Given the description of an element on the screen output the (x, y) to click on. 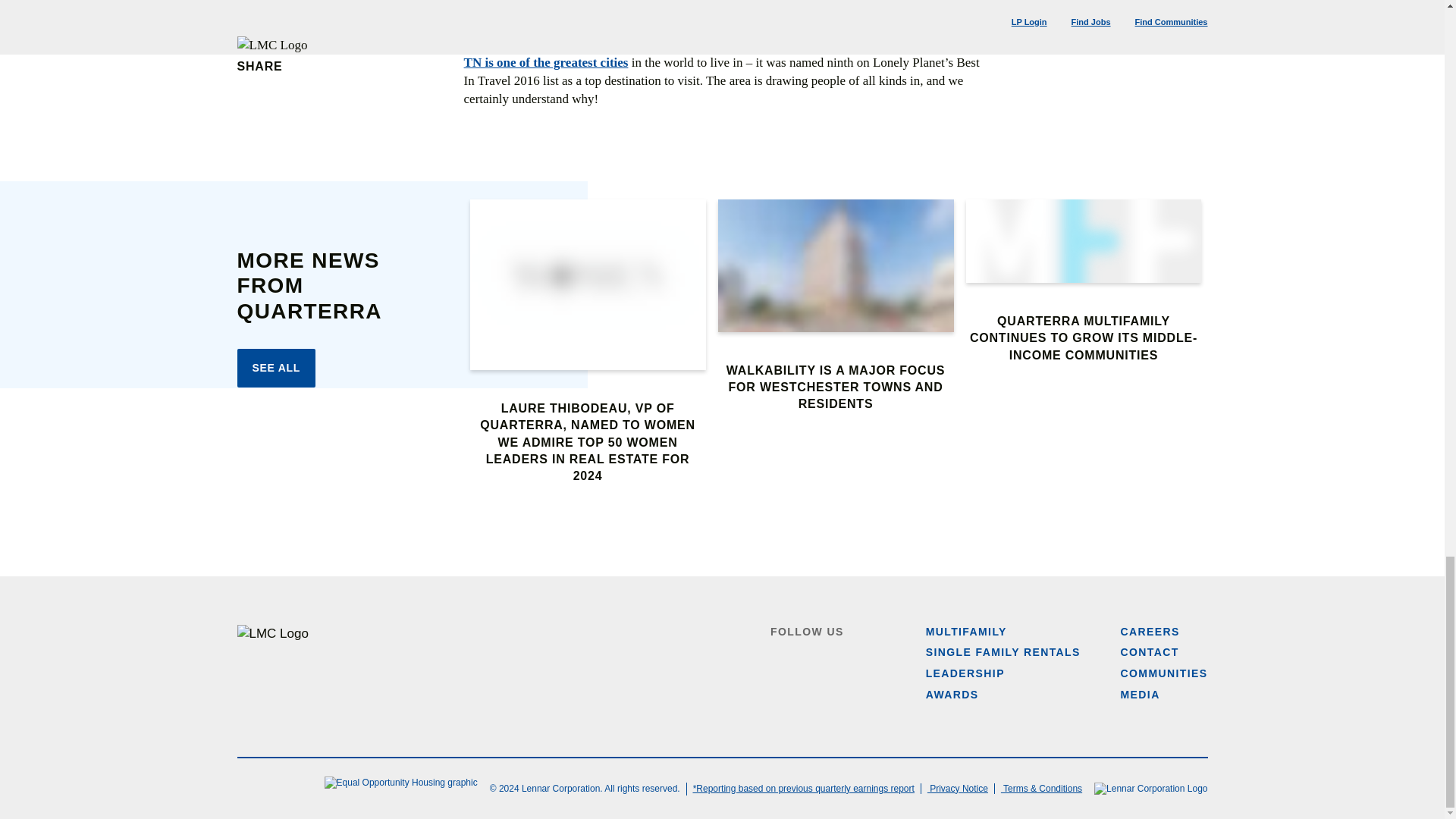
COMMUNITIES (1164, 673)
MEDIA (1140, 694)
CONTACT (1150, 652)
SEE ALL (275, 368)
LEADERSHIP (965, 673)
SINGLE FAMILY RENTALS (1003, 652)
CAREERS (1150, 631)
MULTIFAMILY (966, 631)
Nashville, TN is one of the greatest cities (721, 53)
AWARDS (952, 694)
